Given the description of an element on the screen output the (x, y) to click on. 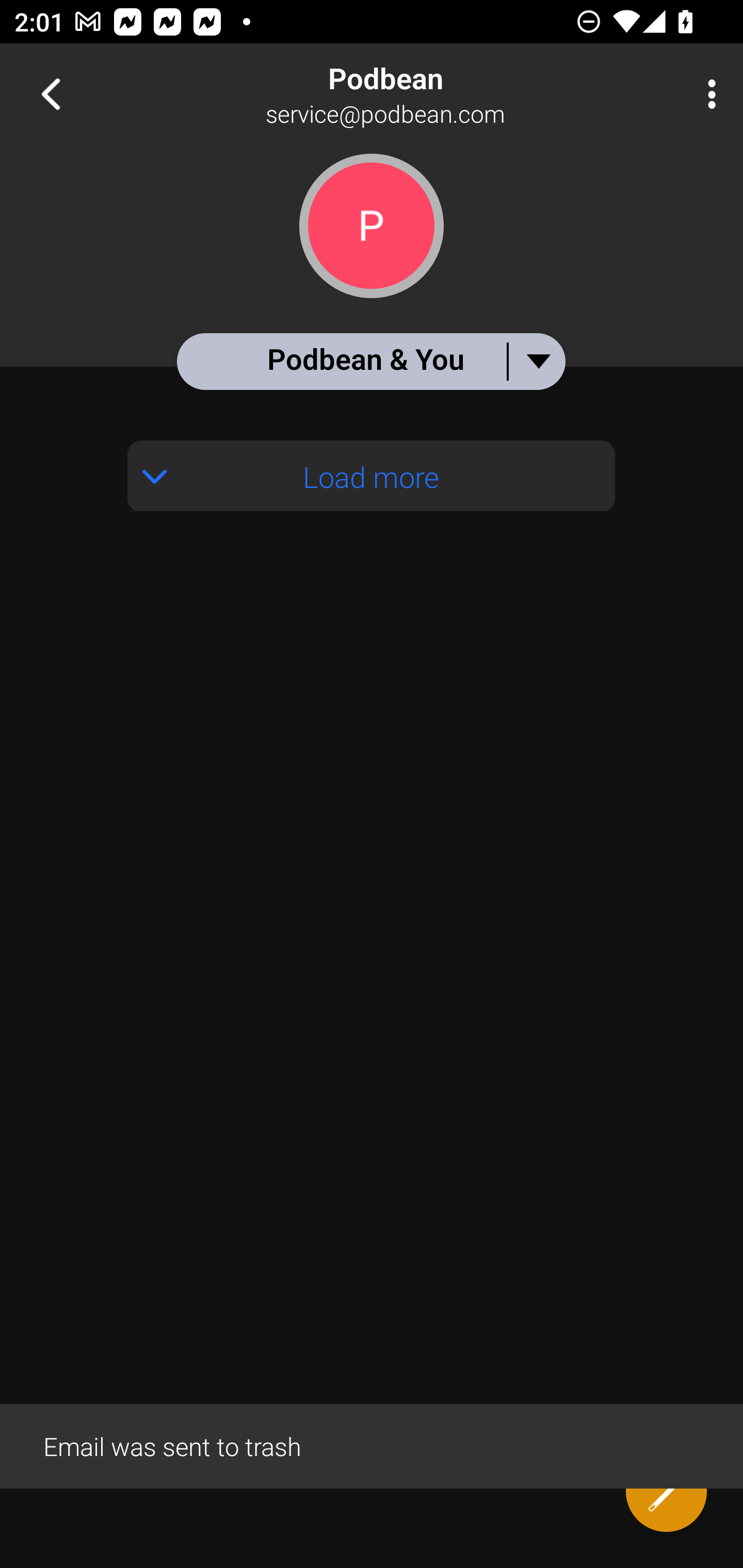
Navigate up (50, 93)
Podbean service@podbean.com (436, 93)
Podbean & You (370, 361)
Load more (371, 475)
Email was sent to trash (371, 1445)
